Given the description of an element on the screen output the (x, y) to click on. 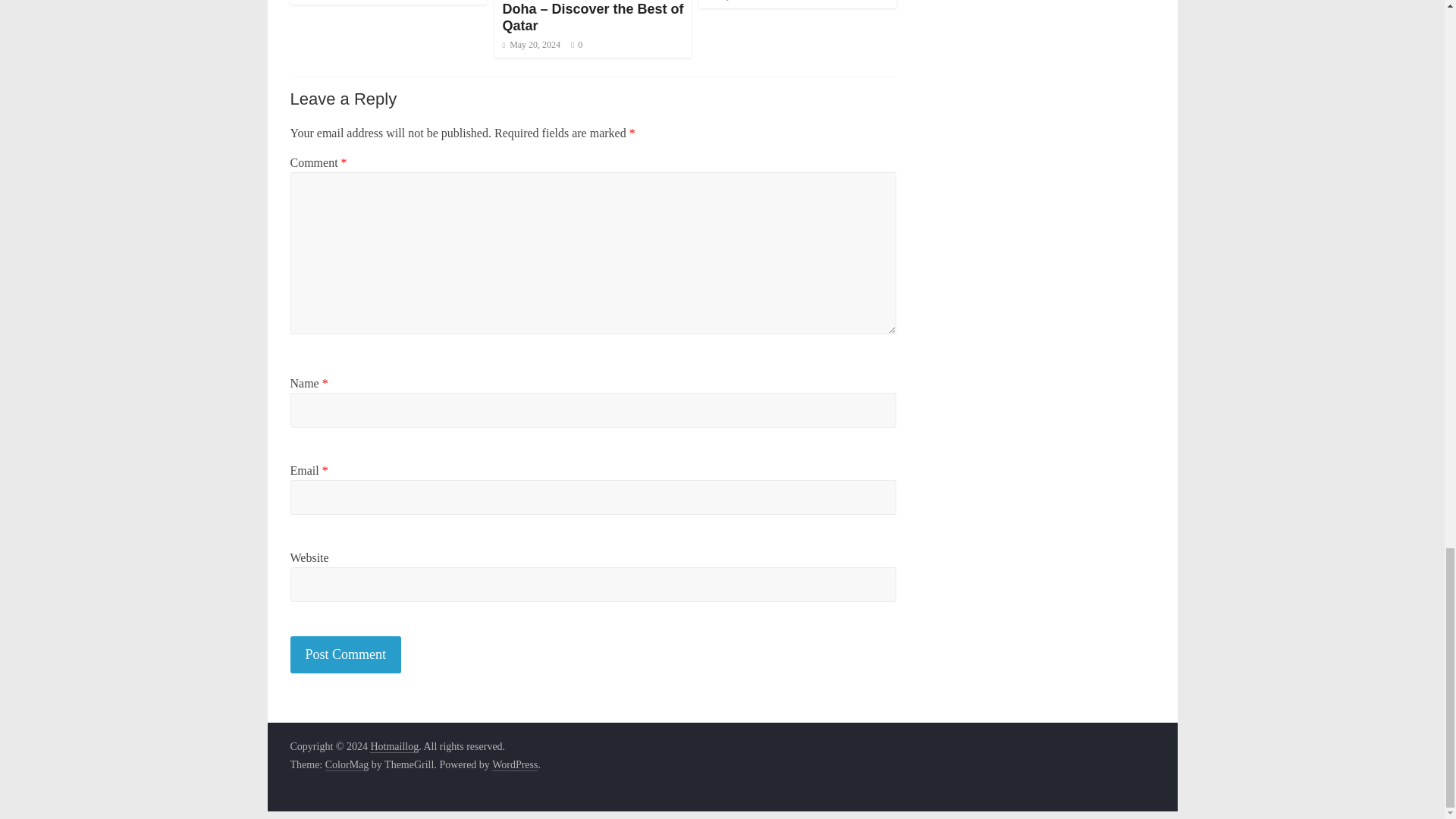
Post Comment (345, 654)
2:14 pm (531, 44)
May 20, 2024 (531, 44)
